Given the description of an element on the screen output the (x, y) to click on. 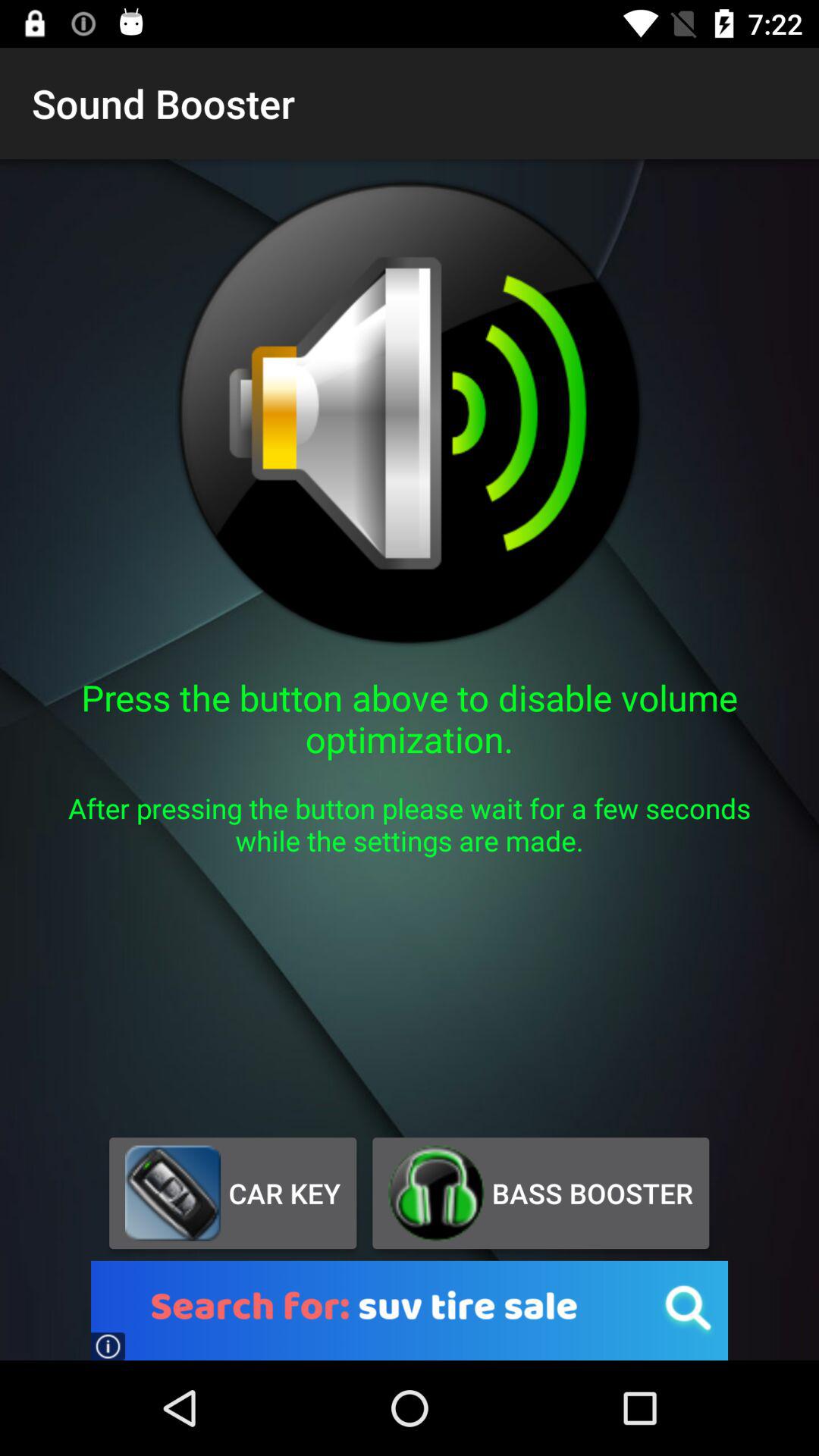
choose the icon next to bass booster button (232, 1192)
